Given the description of an element on the screen output the (x, y) to click on. 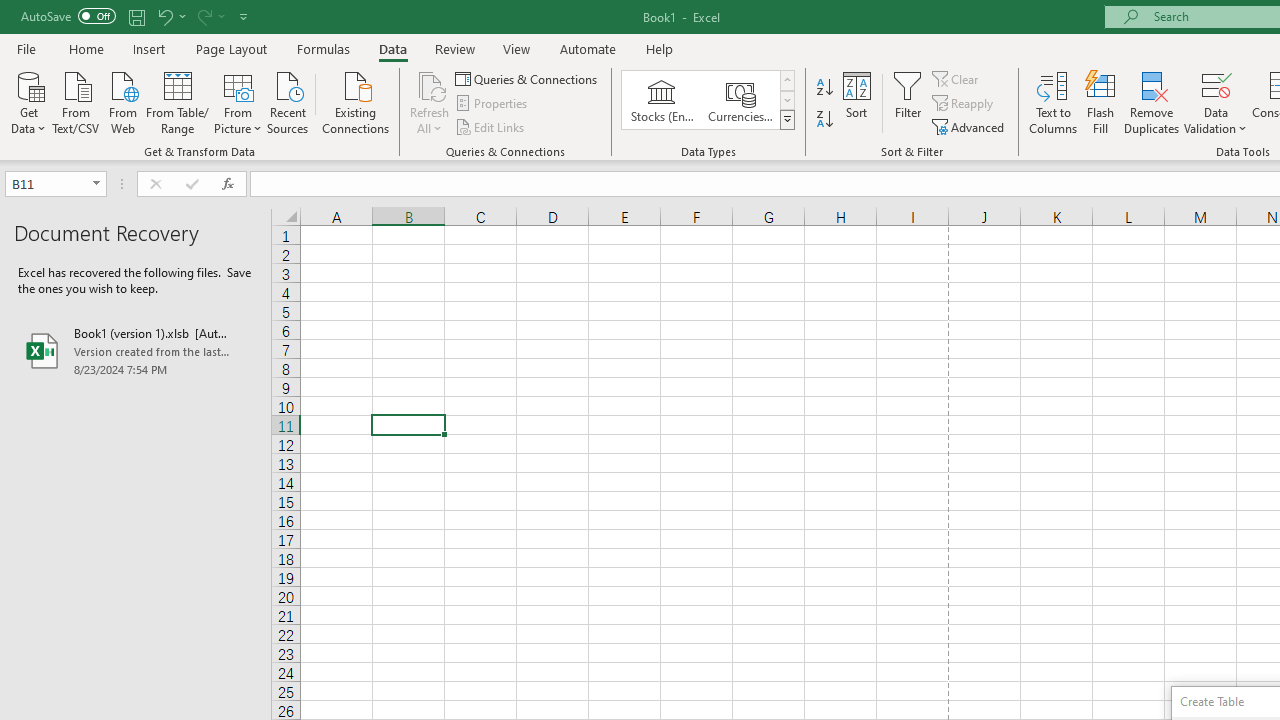
Sort... (856, 102)
Data Types (786, 120)
Remove Duplicates (1151, 102)
Row up (786, 79)
Filter (908, 102)
Edit Links (491, 126)
